Given the description of an element on the screen output the (x, y) to click on. 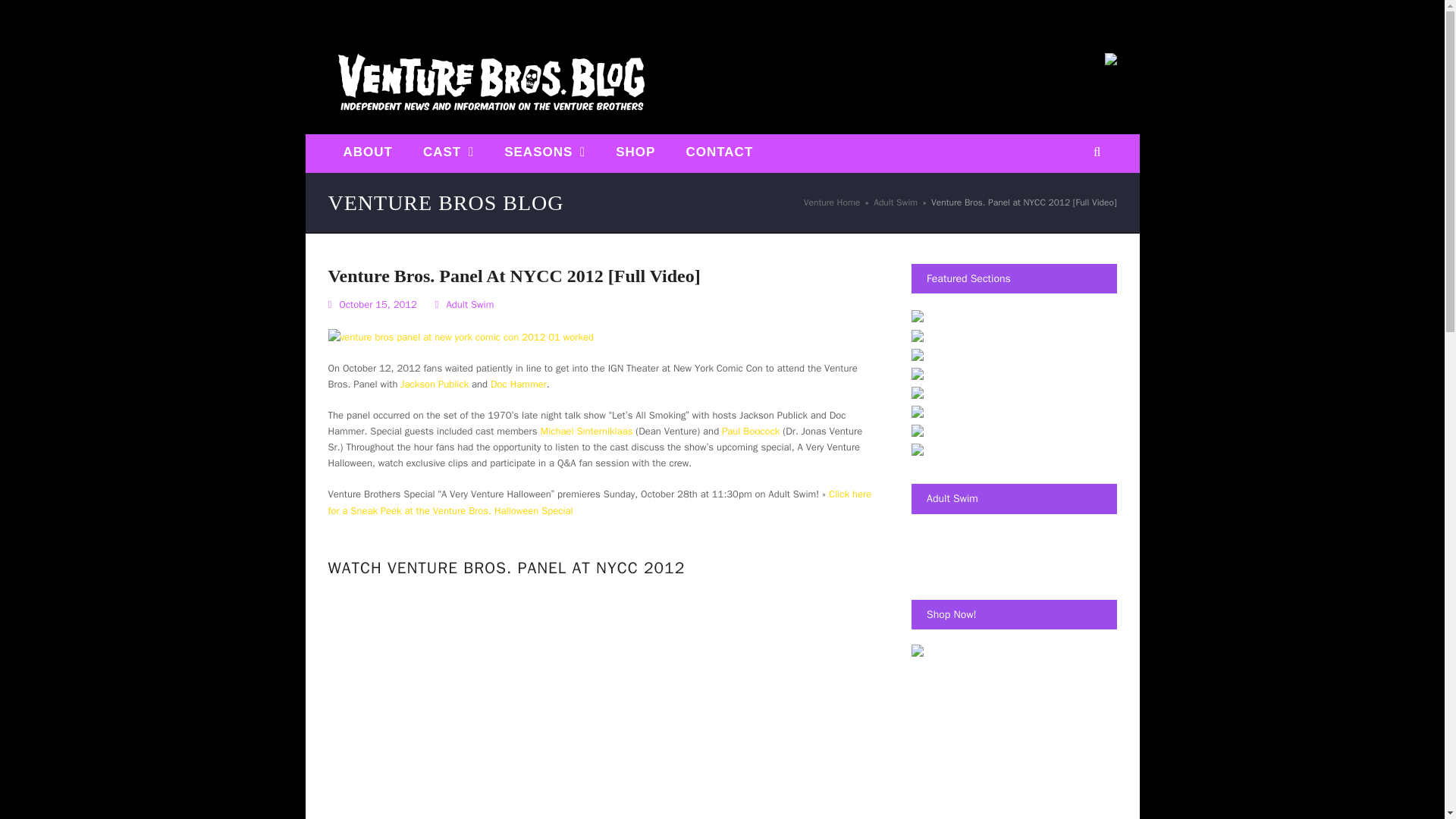
Purchase exclusive Funko Pops for less (1109, 61)
Doc Hammer on Venture Bros. Blog (518, 383)
Jackson Publick on Venture Bros. Blog (434, 383)
Sneak Peek at Venture Bros. Special  (598, 501)
Venture Home (831, 202)
venture-bros-panel-at-new-york-comic-con-2012-01-worked (459, 336)
Paul Boocock (750, 431)
Contact Venture Bros Blog (718, 152)
Cast (448, 152)
Seasons (544, 152)
